Given the description of an element on the screen output the (x, y) to click on. 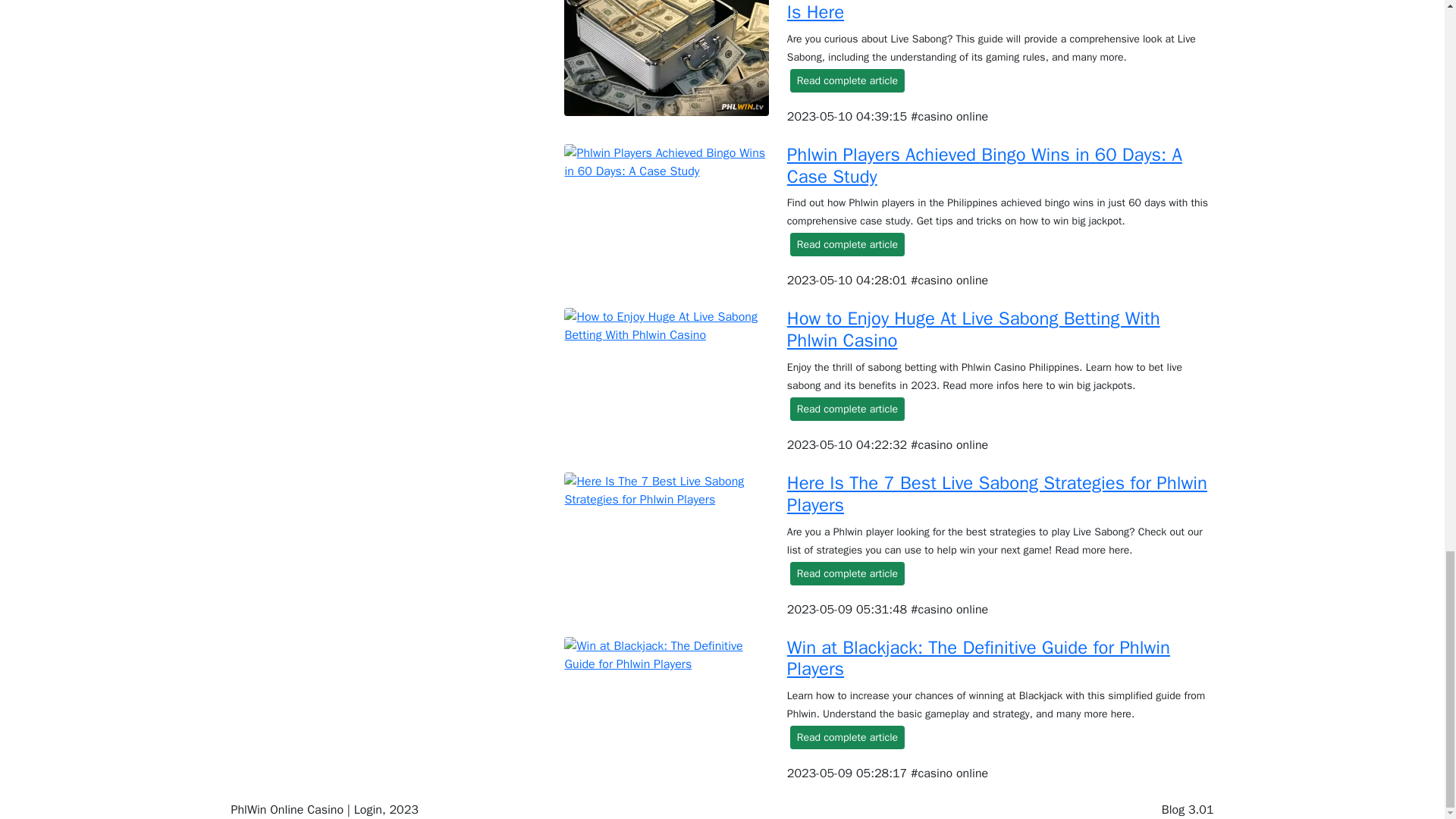
Win at Blackjack: The Definitive Guide for Phlwin Players (978, 658)
Read complete article (847, 573)
How to Enjoy Huge At Live Sabong Betting With Phlwin Casino (973, 329)
Here Is The 7 Best Live Sabong Strategies for Phlwin Players (997, 493)
Phlwin Players Achieved Bingo Wins in 60 Days: A Case Study (984, 165)
Read complete article (847, 80)
Read complete article (847, 244)
Winning Guide to Live Sabong for Phlwin Enthusiasts Is Here (996, 11)
Read complete article (847, 737)
Read complete article (847, 408)
